Given the description of an element on the screen output the (x, y) to click on. 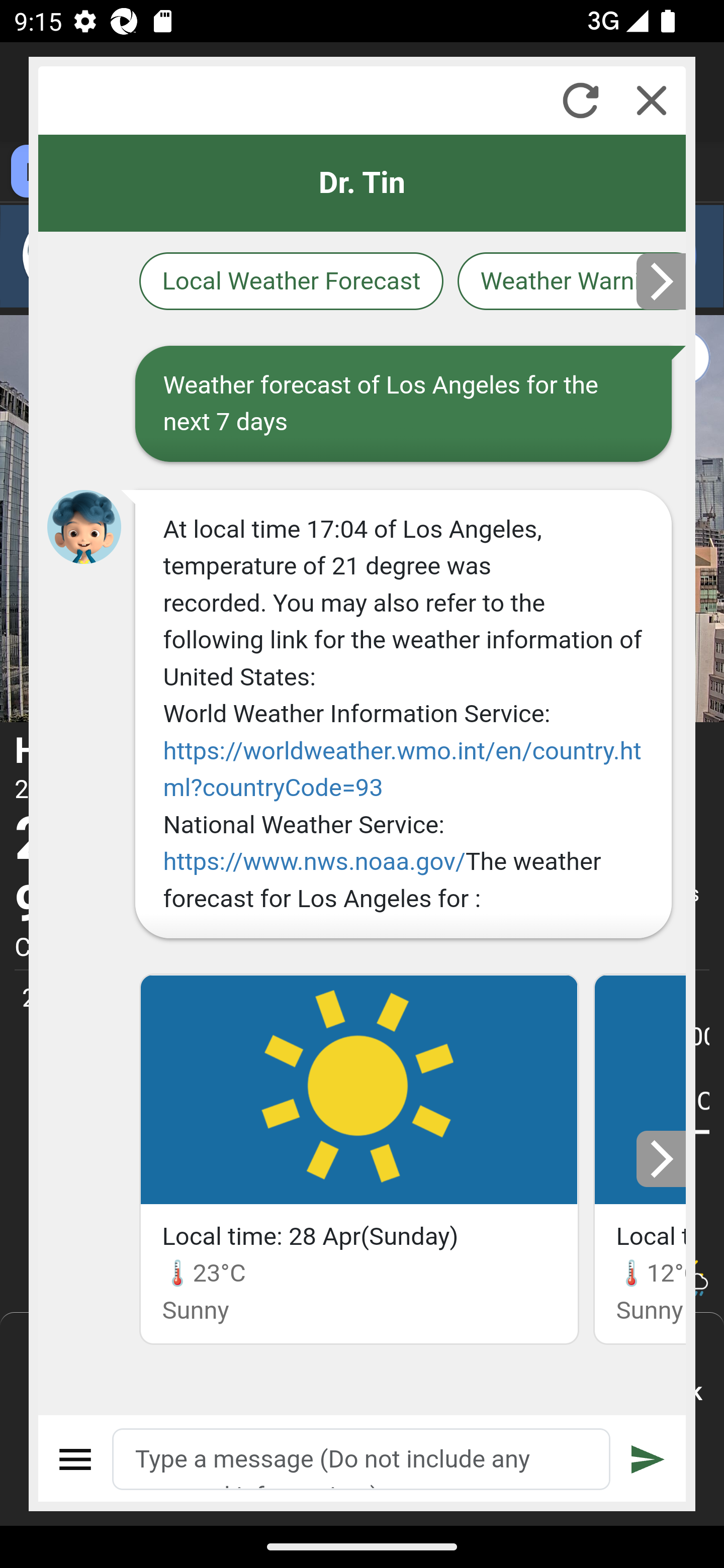
Refresh (580, 100)
Close (651, 100)
Local Weather Forecast (291, 281)
Weather Warnings (571, 281)
Next slide (661, 281)
https://www.nws.noaa.gov/ (314, 861)
Next slide (661, 1159)
Menu (75, 1458)
Submit (648, 1458)
